Given the description of an element on the screen output the (x, y) to click on. 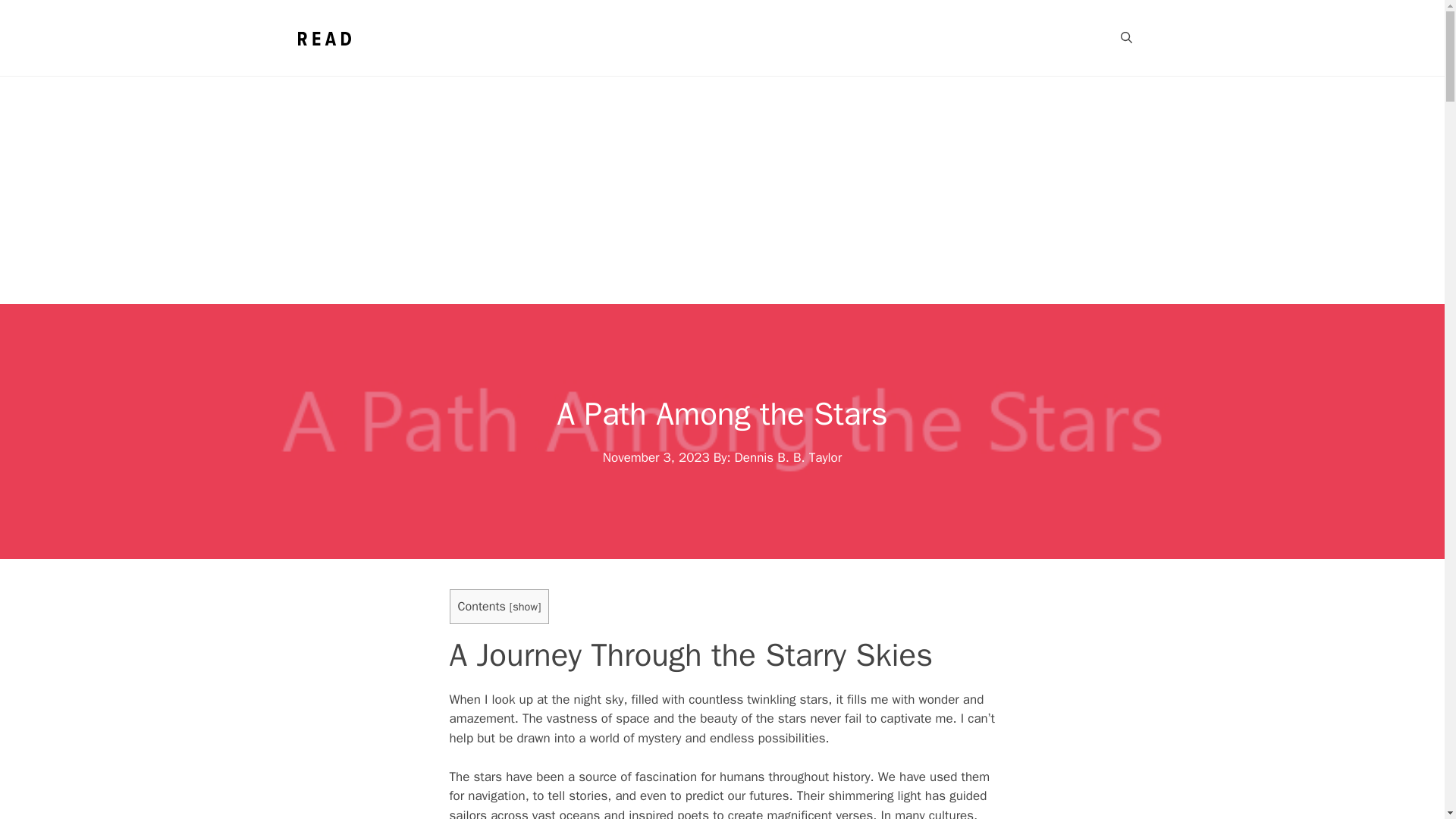
show (524, 606)
